Given the description of an element on the screen output the (x, y) to click on. 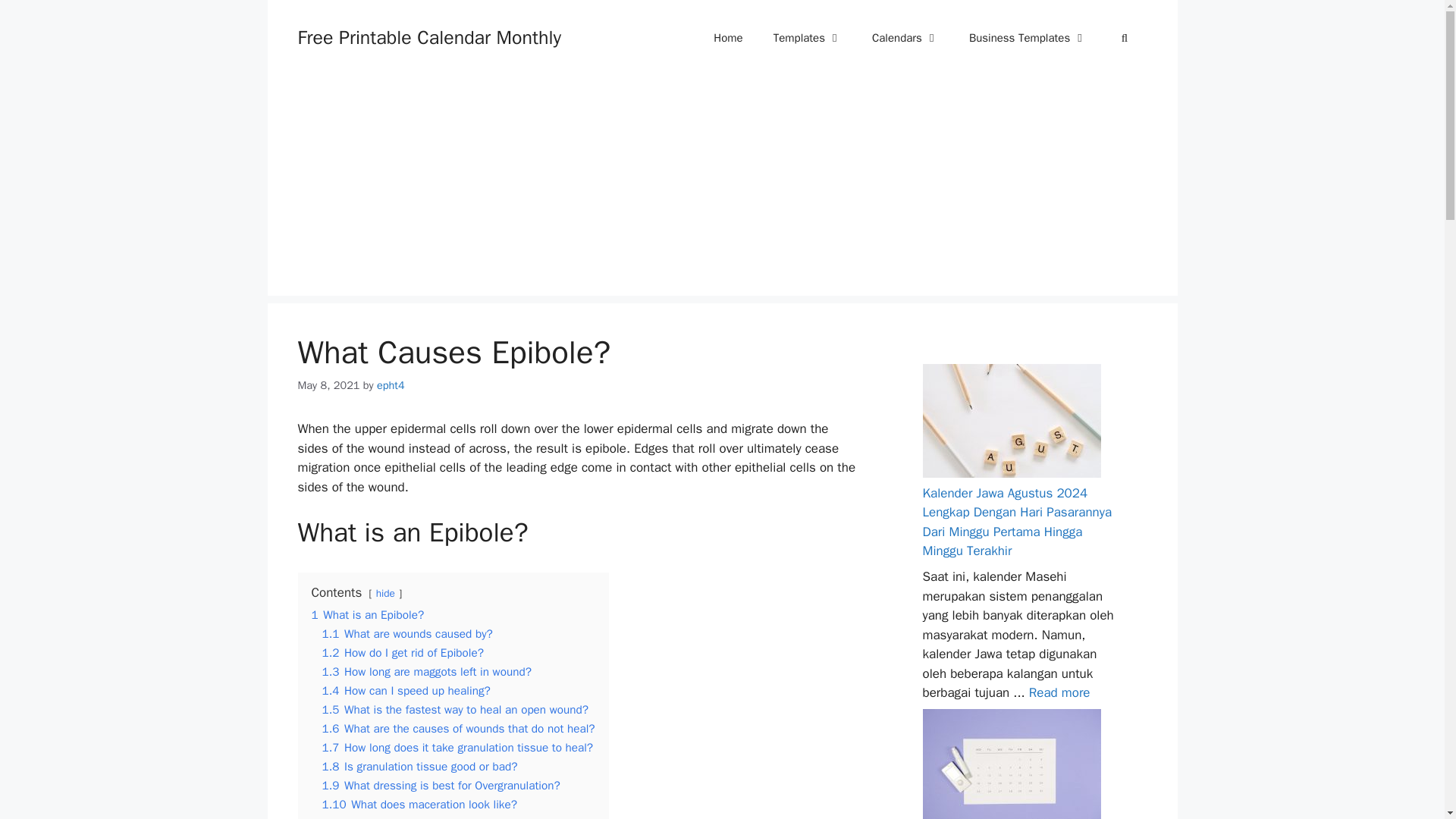
View all posts by epht4 (390, 385)
Calendars (905, 37)
1.10 What does maceration look like? (418, 804)
1.1 What are wounds caused by? (406, 633)
Templates (807, 37)
hide (384, 593)
1.3 How long are maggots left in wound? (426, 671)
1.4 How can I speed up healing? (405, 690)
1.6 What are the causes of wounds that do not heal? (457, 728)
epht4 (390, 385)
1.2 How do I get rid of Epibole? (402, 652)
1.5 What is the fastest way to heal an open wound? (454, 709)
Business Templates (1027, 37)
1 What is an Epibole? (367, 614)
